Given the description of an element on the screen output the (x, y) to click on. 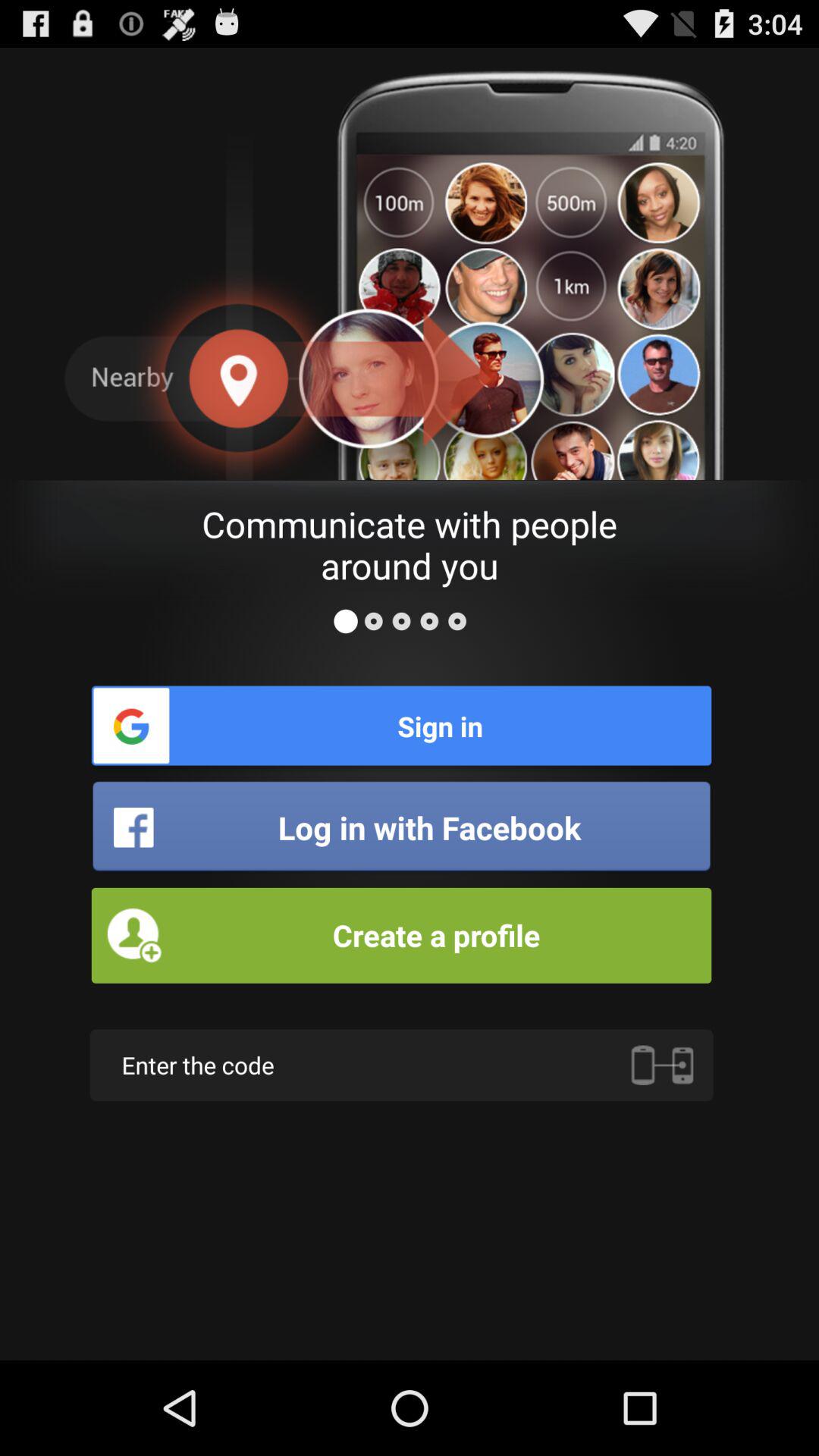
open item above the create a profile button (401, 827)
